Given the description of an element on the screen output the (x, y) to click on. 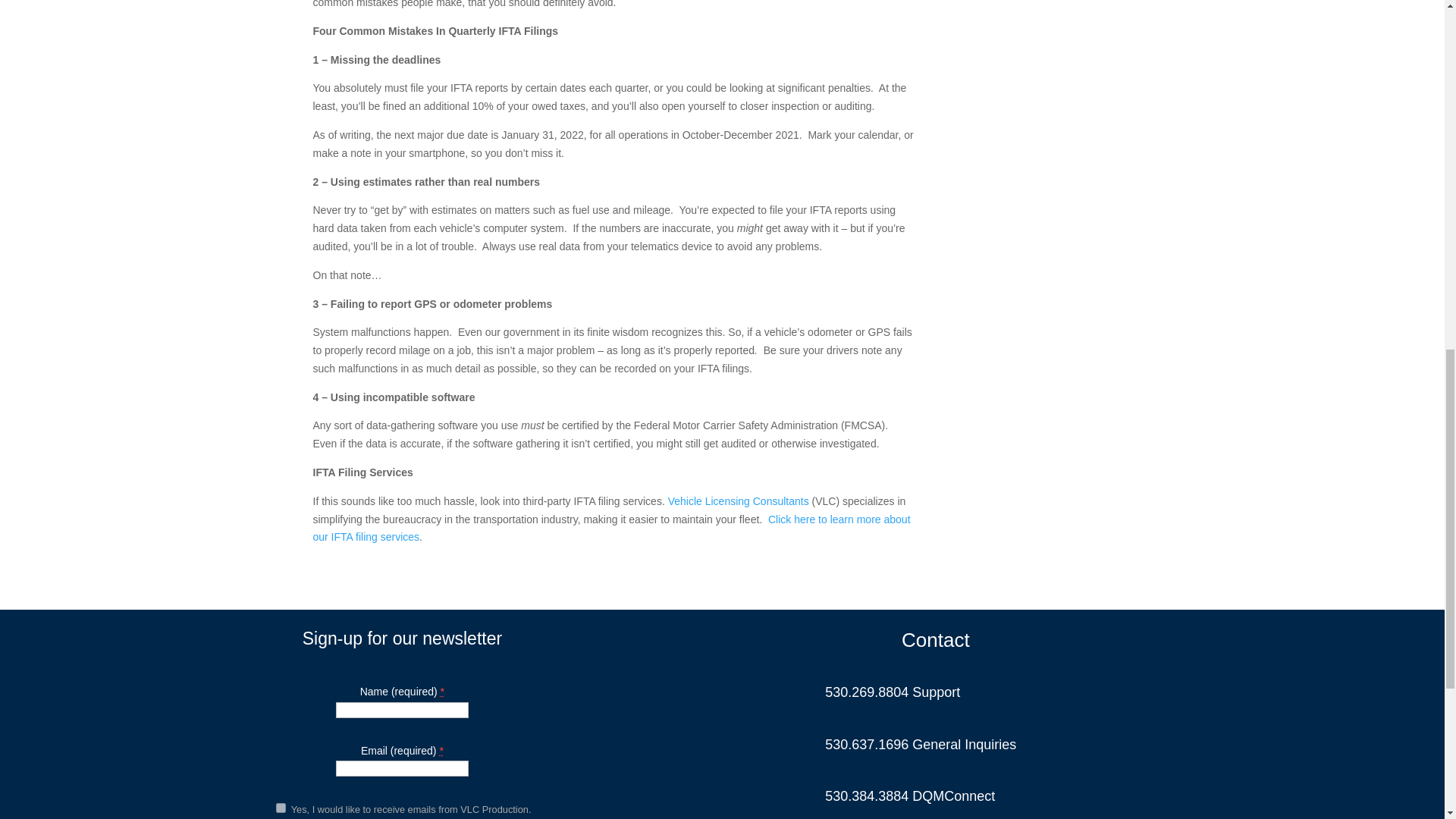
1 (280, 808)
